Given the description of an element on the screen output the (x, y) to click on. 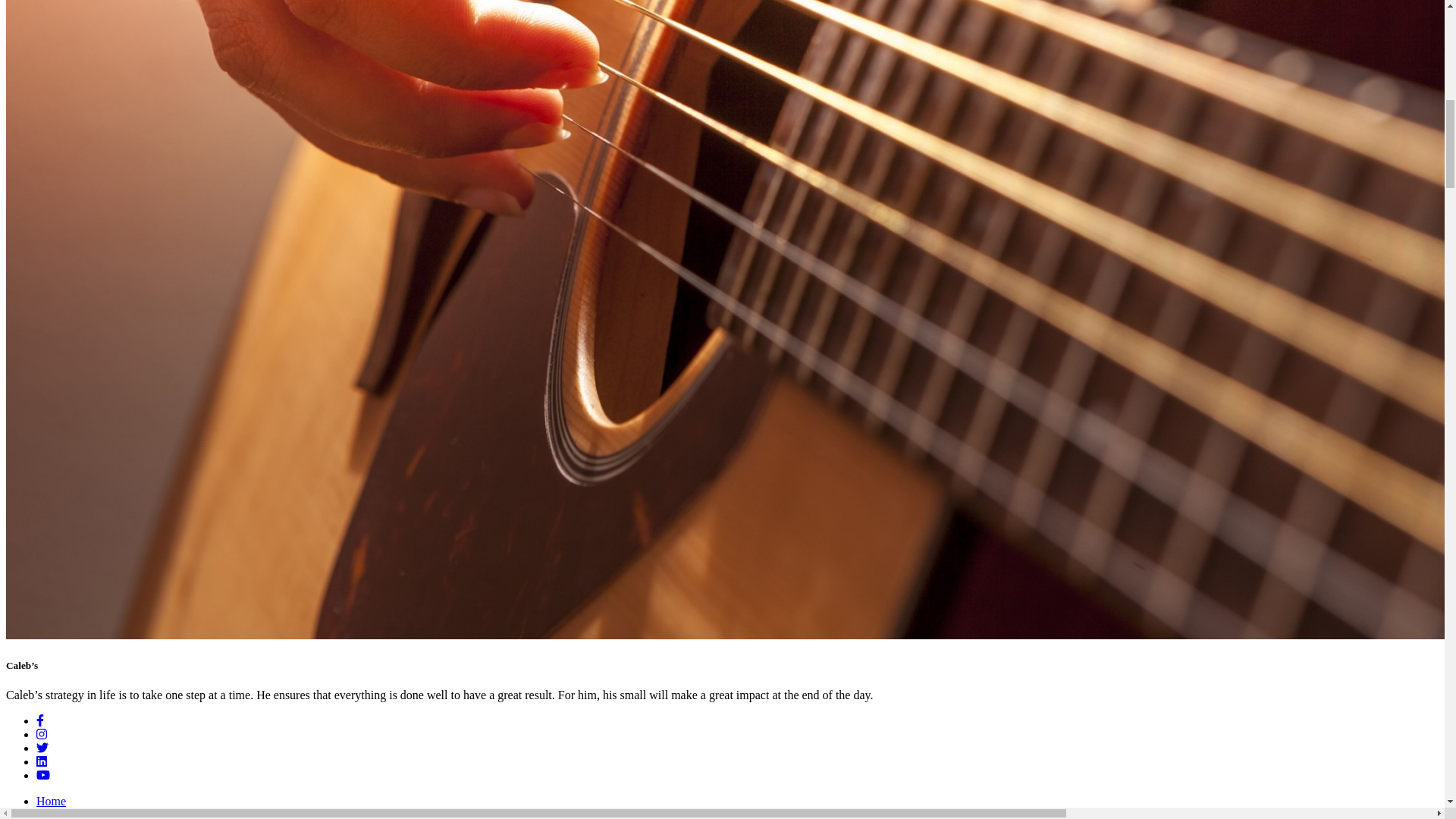
Automobiles (67, 813)
Home (50, 800)
